Given the description of an element on the screen output the (x, y) to click on. 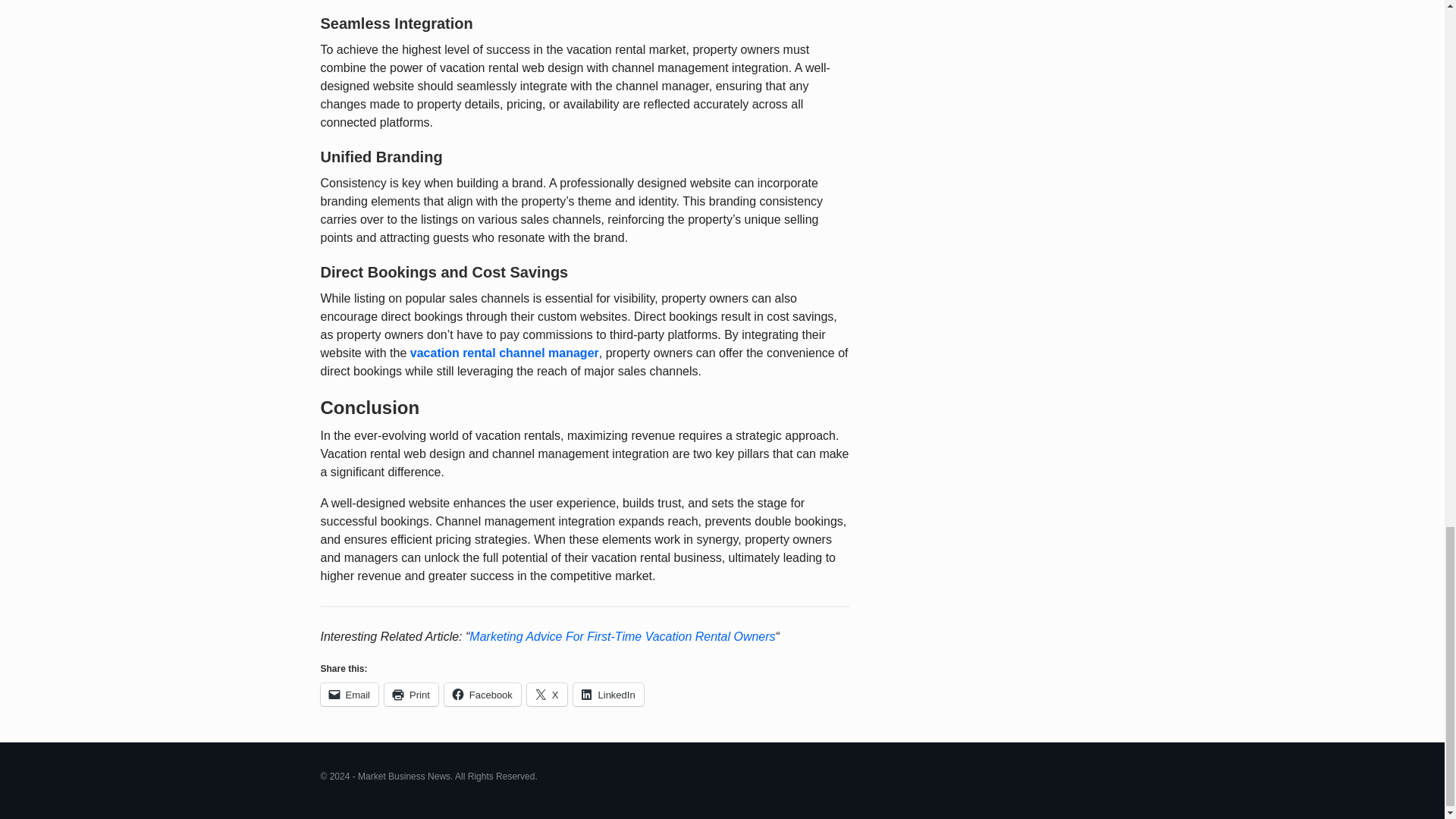
Click to print (411, 694)
Click to share on X (547, 694)
Click to share on Facebook (482, 694)
Email (349, 694)
X (547, 694)
Print (411, 694)
Facebook (482, 694)
Click to email a link to a friend (349, 694)
Click to share on LinkedIn (608, 694)
vacation rental channel manager (504, 352)
